Given the description of an element on the screen output the (x, y) to click on. 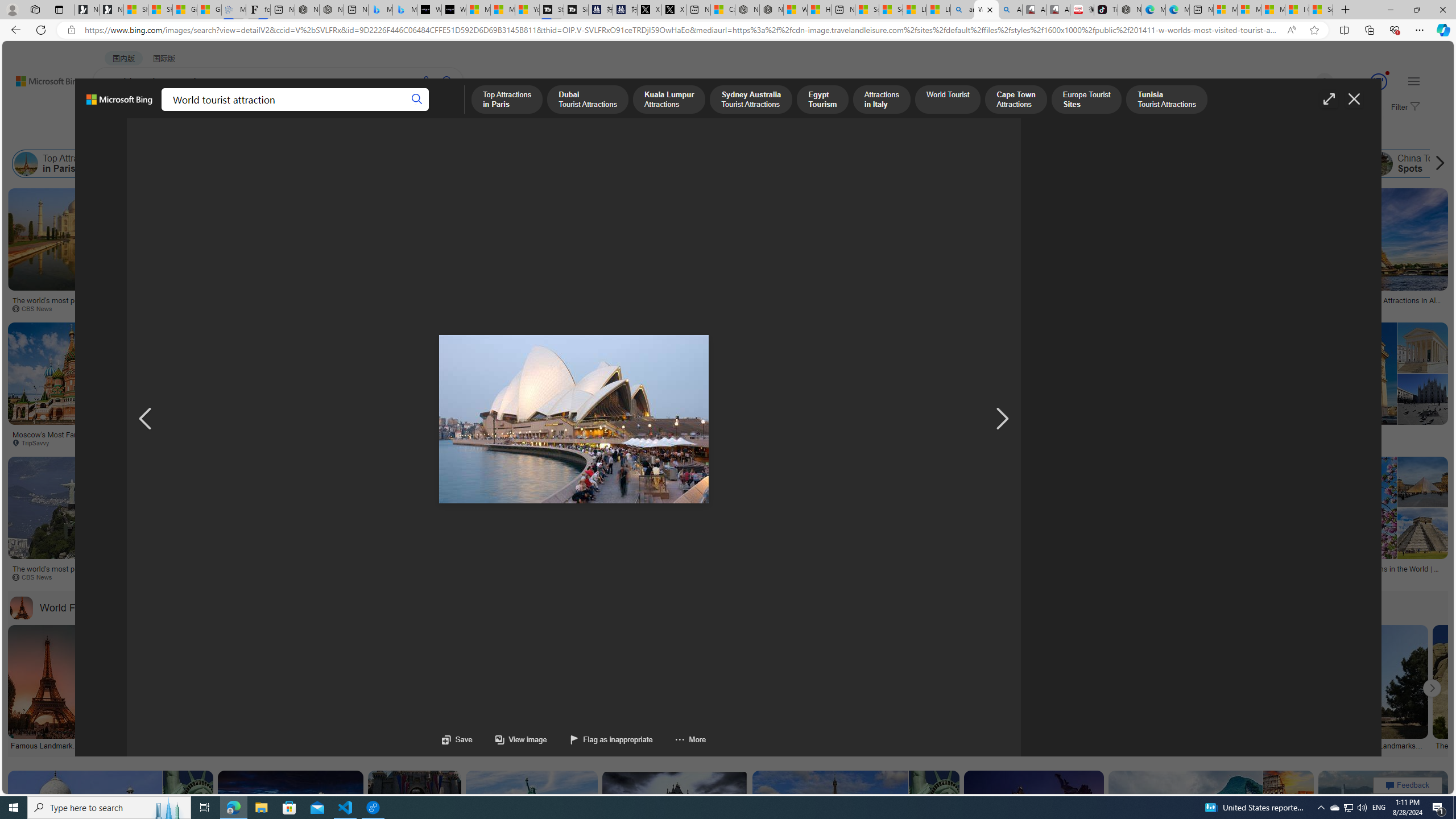
Color (173, 135)
I Gained 20 Pounds of Muscle in 30 Days! | Watch (1296, 9)
Kuala Lumpur Attractions (289, 163)
amazon - Search (962, 9)
Canada's Best Attractions and DestinationsTripSavvySave (576, 521)
rainforestcruises.com (603, 442)
Layout (253, 135)
Top 10 Tourist Attractions in the World (1159, 163)
View image (509, 739)
karryon.com.au (509, 308)
Europe Tourist Sites (876, 163)
Streaming Coverage | T3 (551, 9)
